Given the description of an element on the screen output the (x, y) to click on. 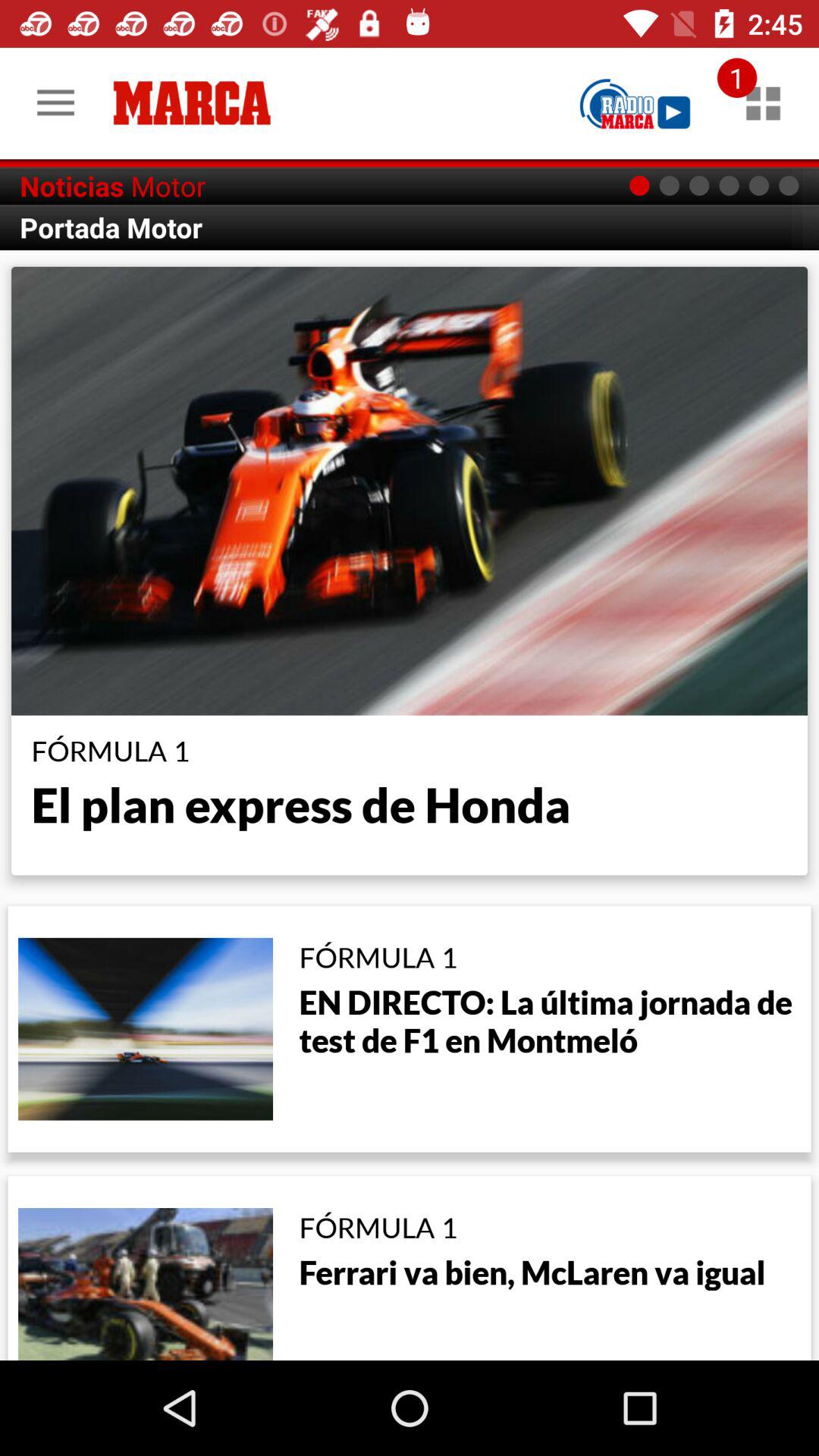
select the pic which is at the bottom (145, 1282)
